Given the description of an element on the screen output the (x, y) to click on. 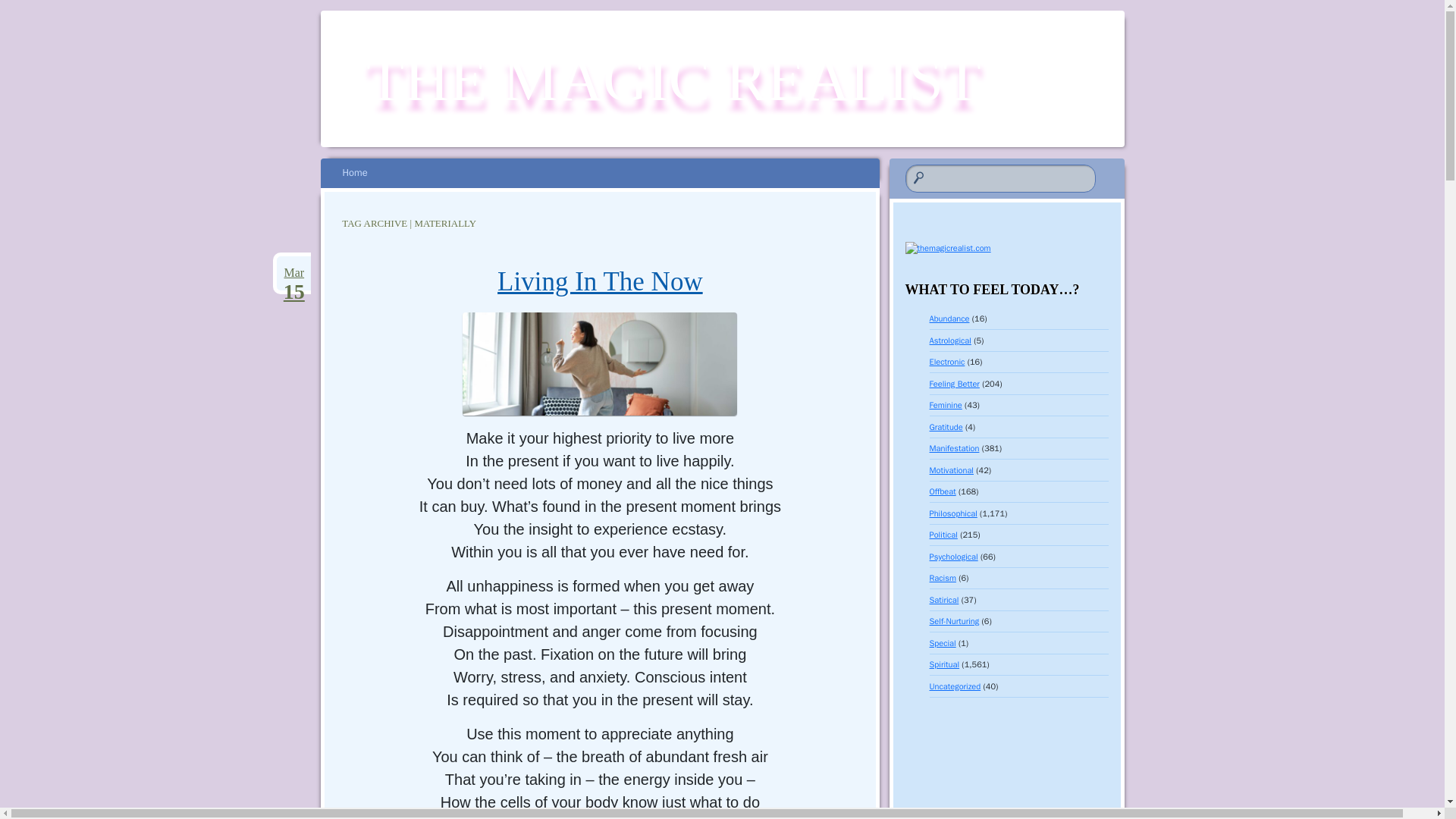
Skip to content (362, 173)
Skip to content (362, 173)
Home (354, 173)
The  Magic  Realist (674, 79)
THE MAGIC REALIST (674, 79)
March 15, 2024 (293, 272)
Living In The Now (293, 272)
